Given the description of an element on the screen output the (x, y) to click on. 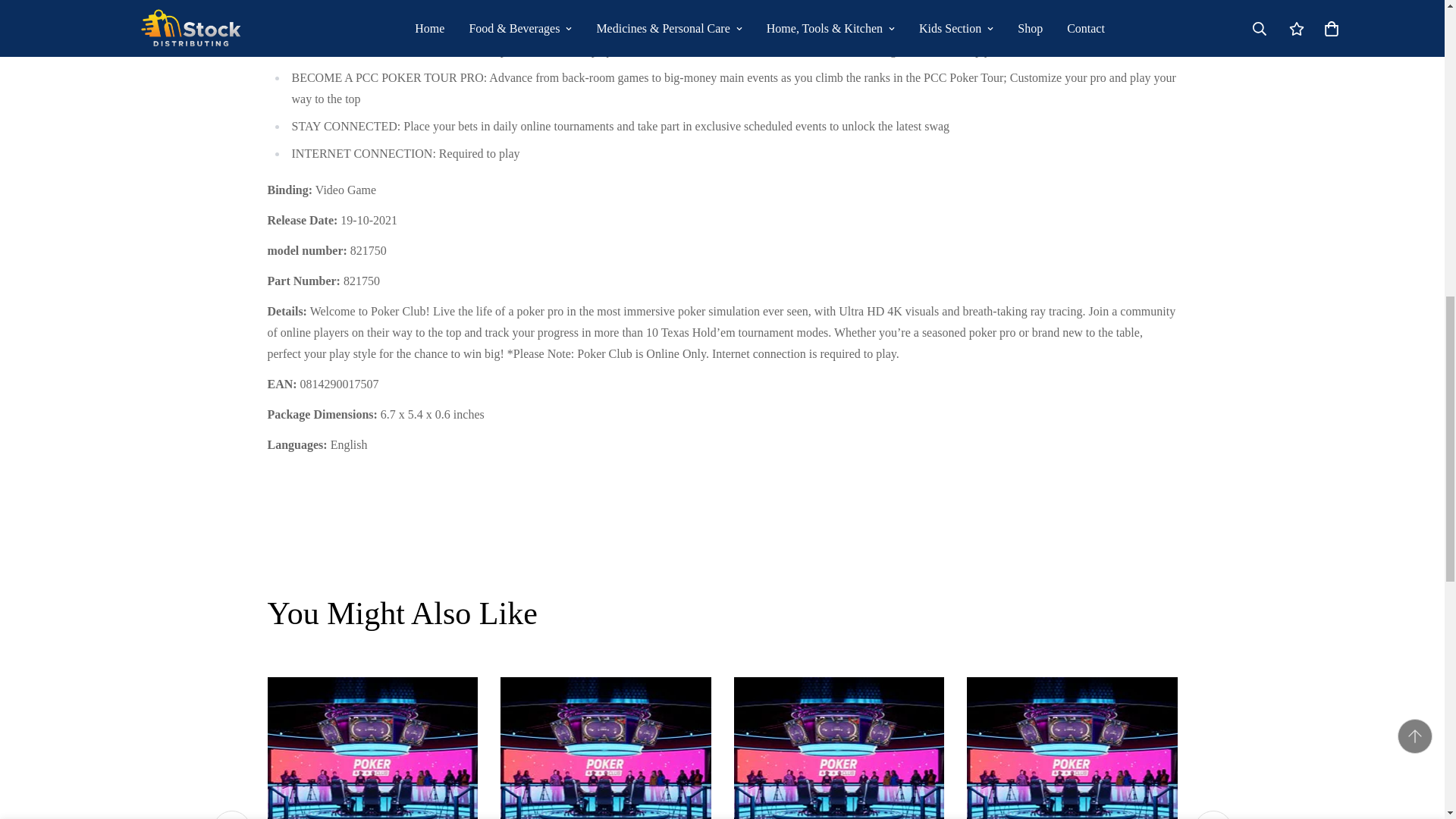
1 (990, 28)
